Given the description of an element on the screen output the (x, y) to click on. 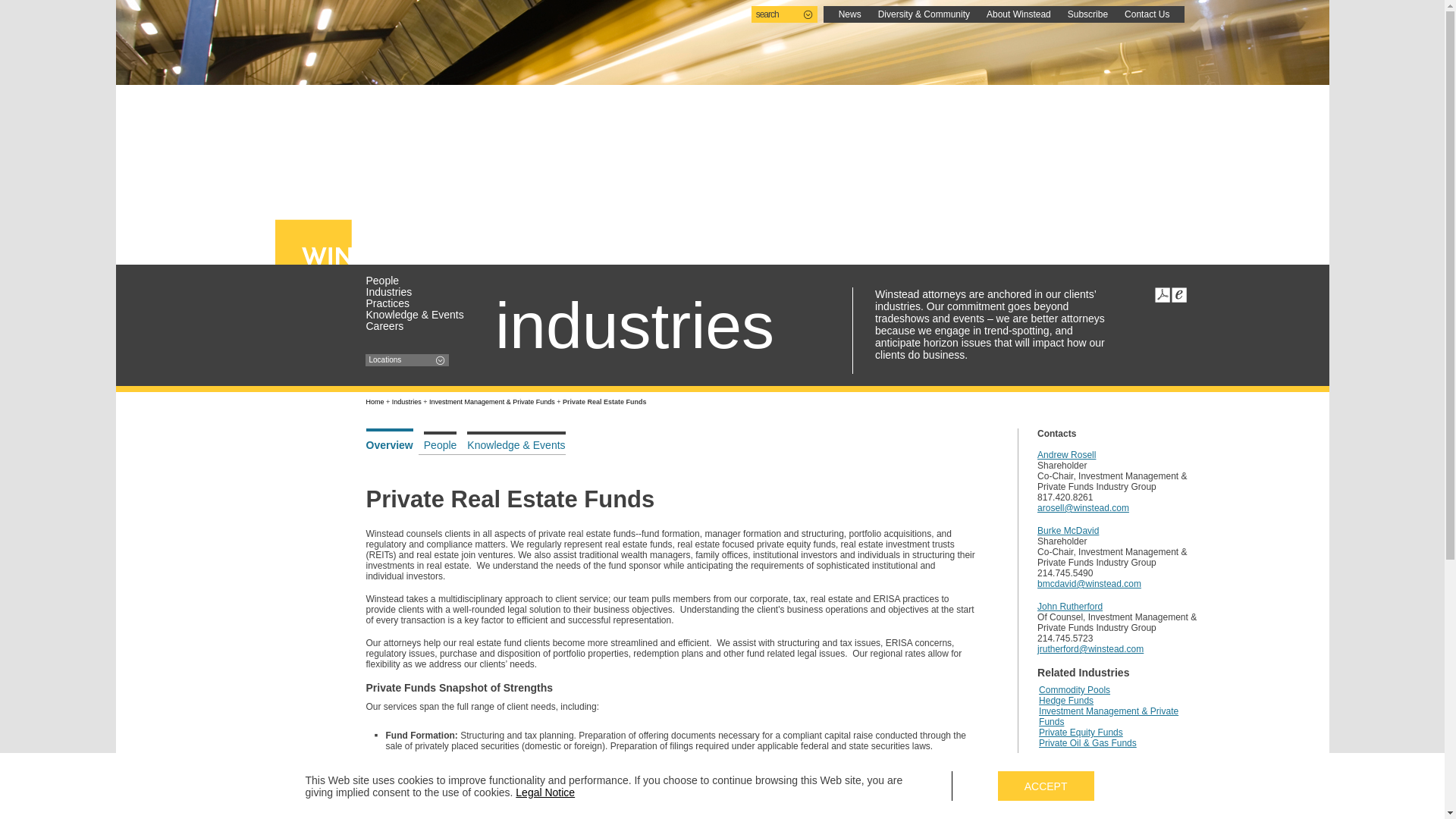
Subscribe (1087, 14)
Email Page (1179, 294)
News (849, 14)
People (418, 280)
About Winstead (1019, 14)
Contact Us (1146, 14)
Print to PDF (1162, 294)
